Given the description of an element on the screen output the (x, y) to click on. 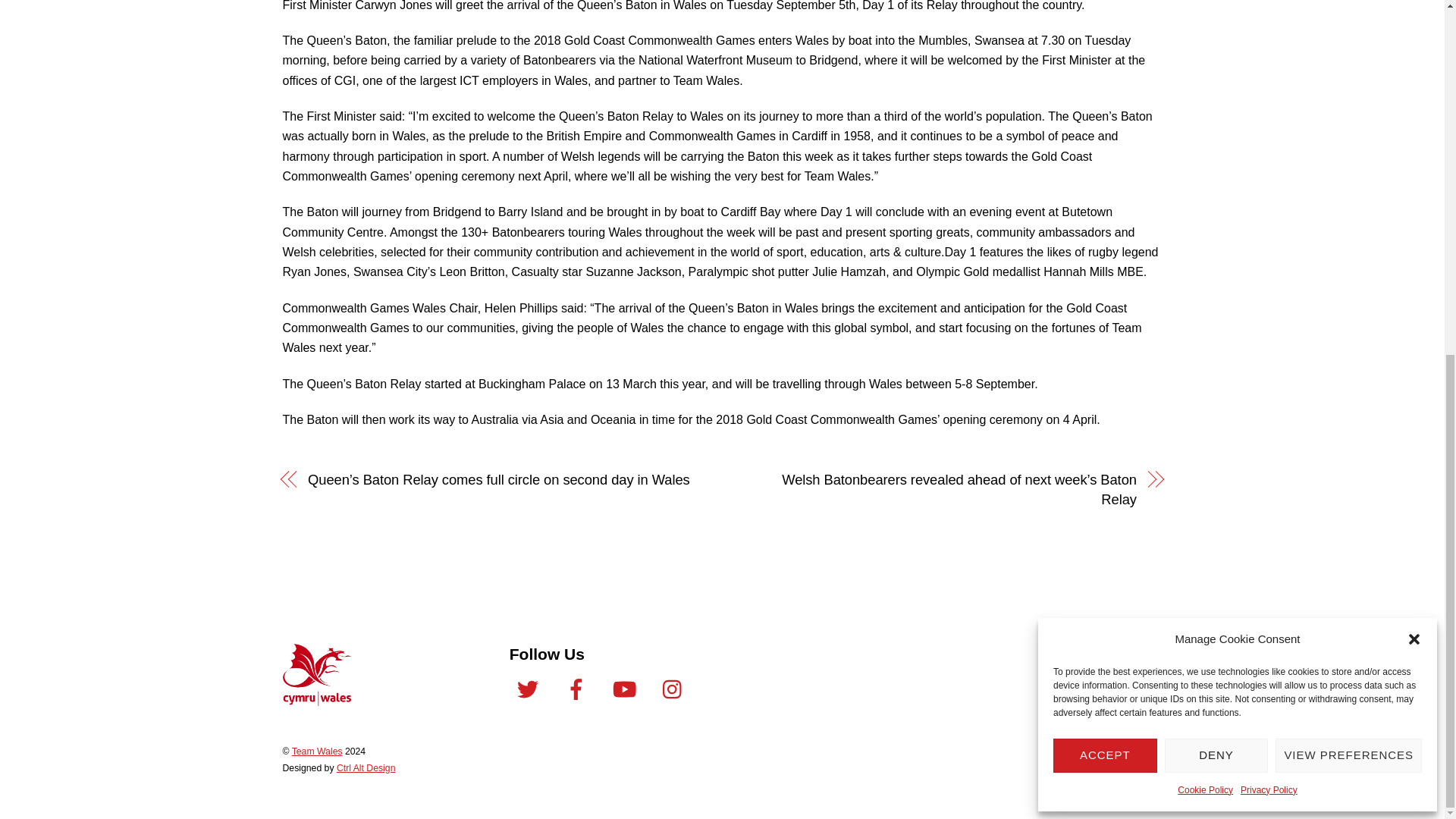
Cookie Policy (1205, 168)
Team Wales (316, 700)
Privacy Policy (1268, 168)
ACCEPT (1104, 134)
DENY (1216, 134)
VIEW PREFERENCES (1348, 134)
